Given the description of an element on the screen output the (x, y) to click on. 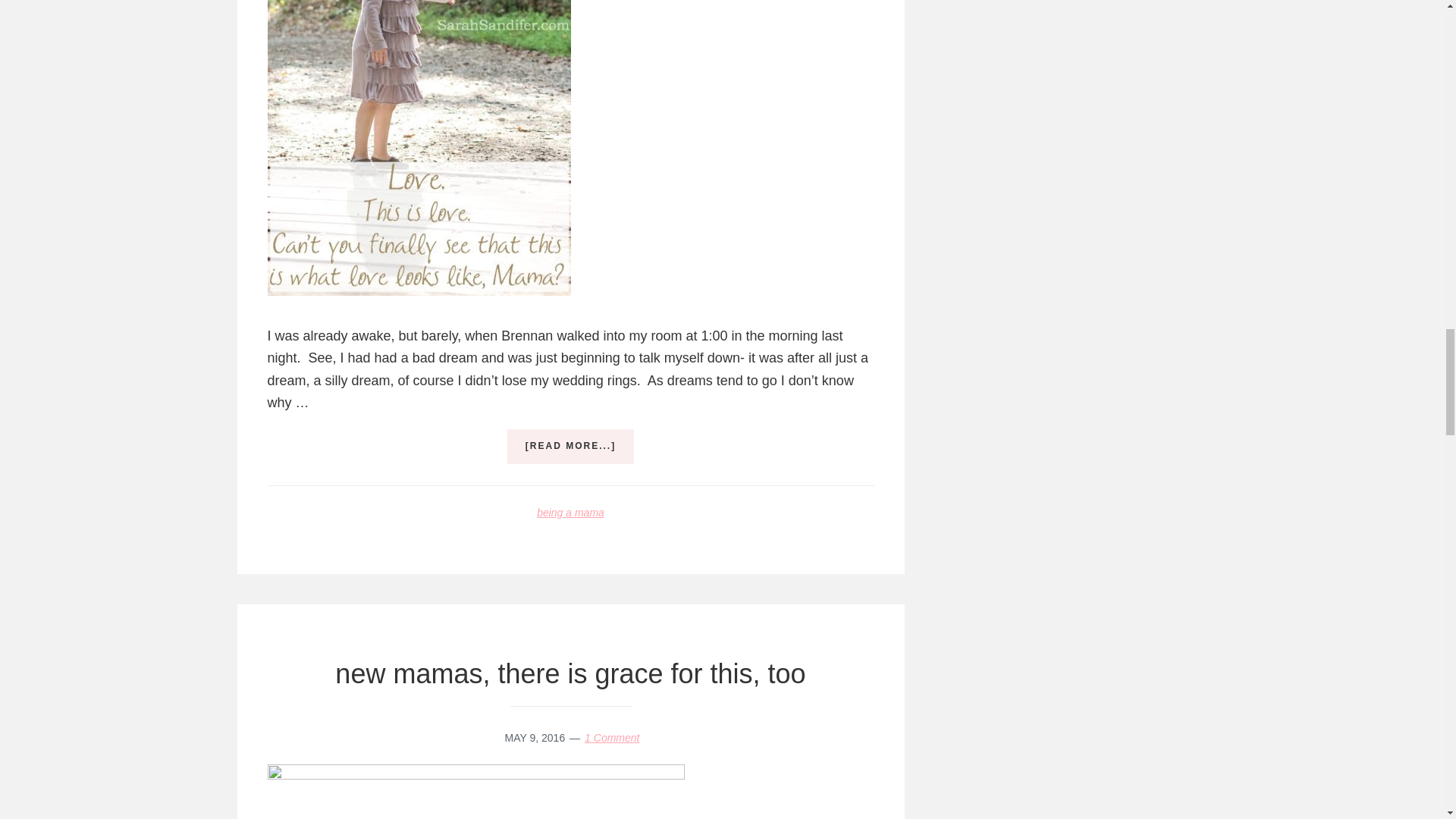
being a mama (570, 512)
new mamas, there is grace for this, too (569, 673)
1 Comment (612, 737)
